Given the description of an element on the screen output the (x, y) to click on. 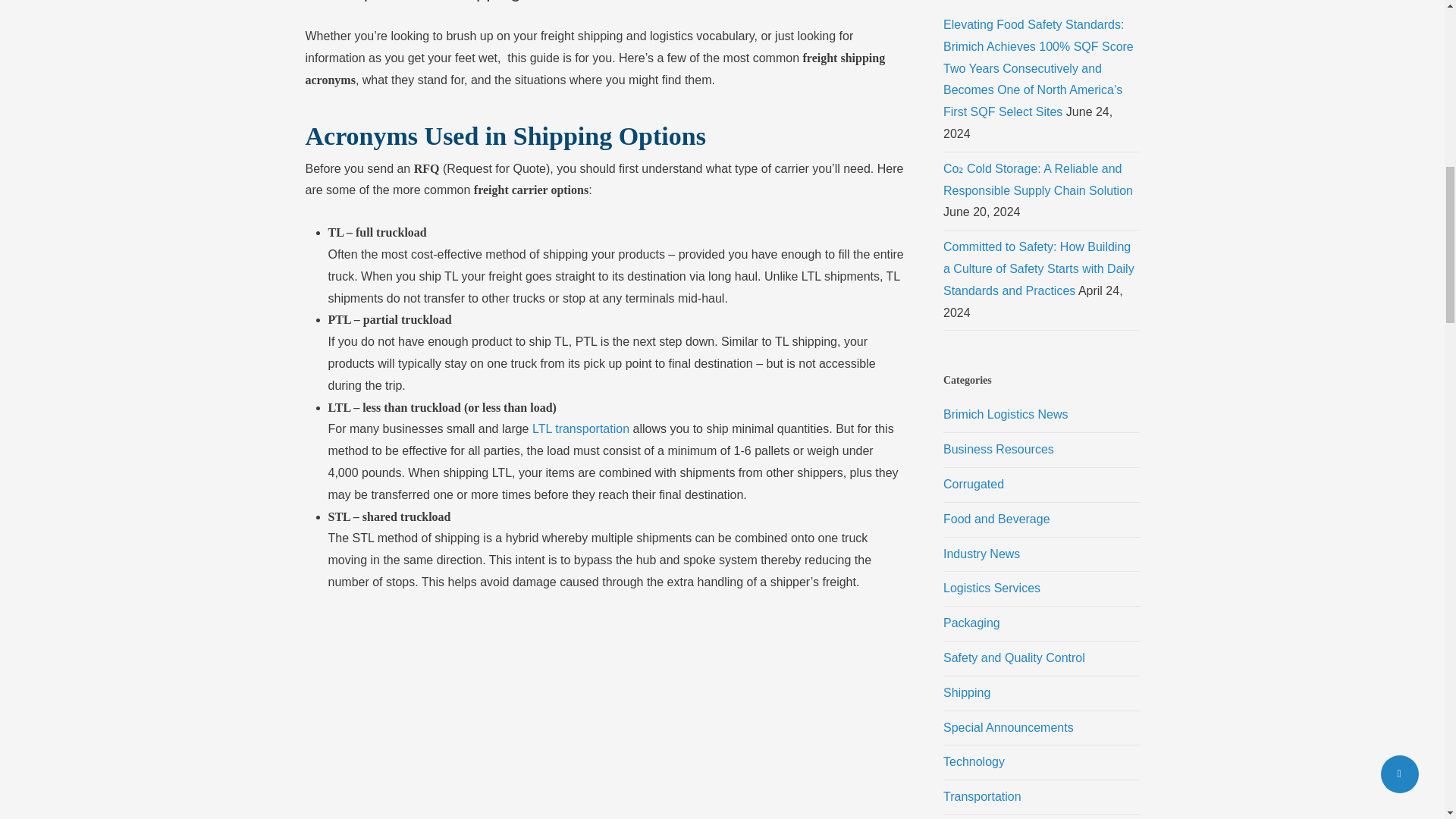
LTL transportation (580, 428)
Shipping Terms (604, 717)
LTL transportation (580, 428)
